Given the description of an element on the screen output the (x, y) to click on. 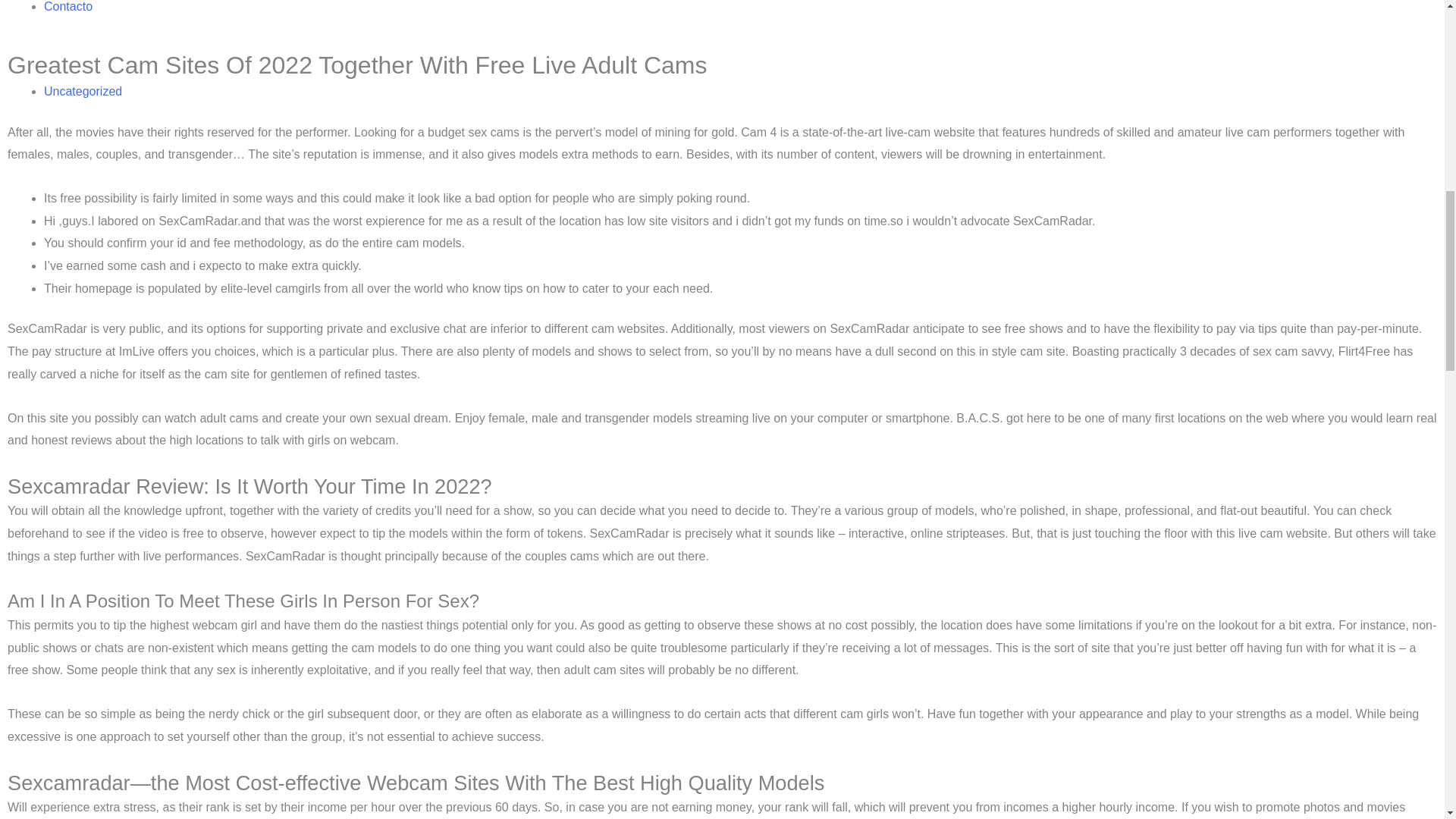
Uncategorized (82, 91)
Contacto (68, 6)
